Given the description of an element on the screen output the (x, y) to click on. 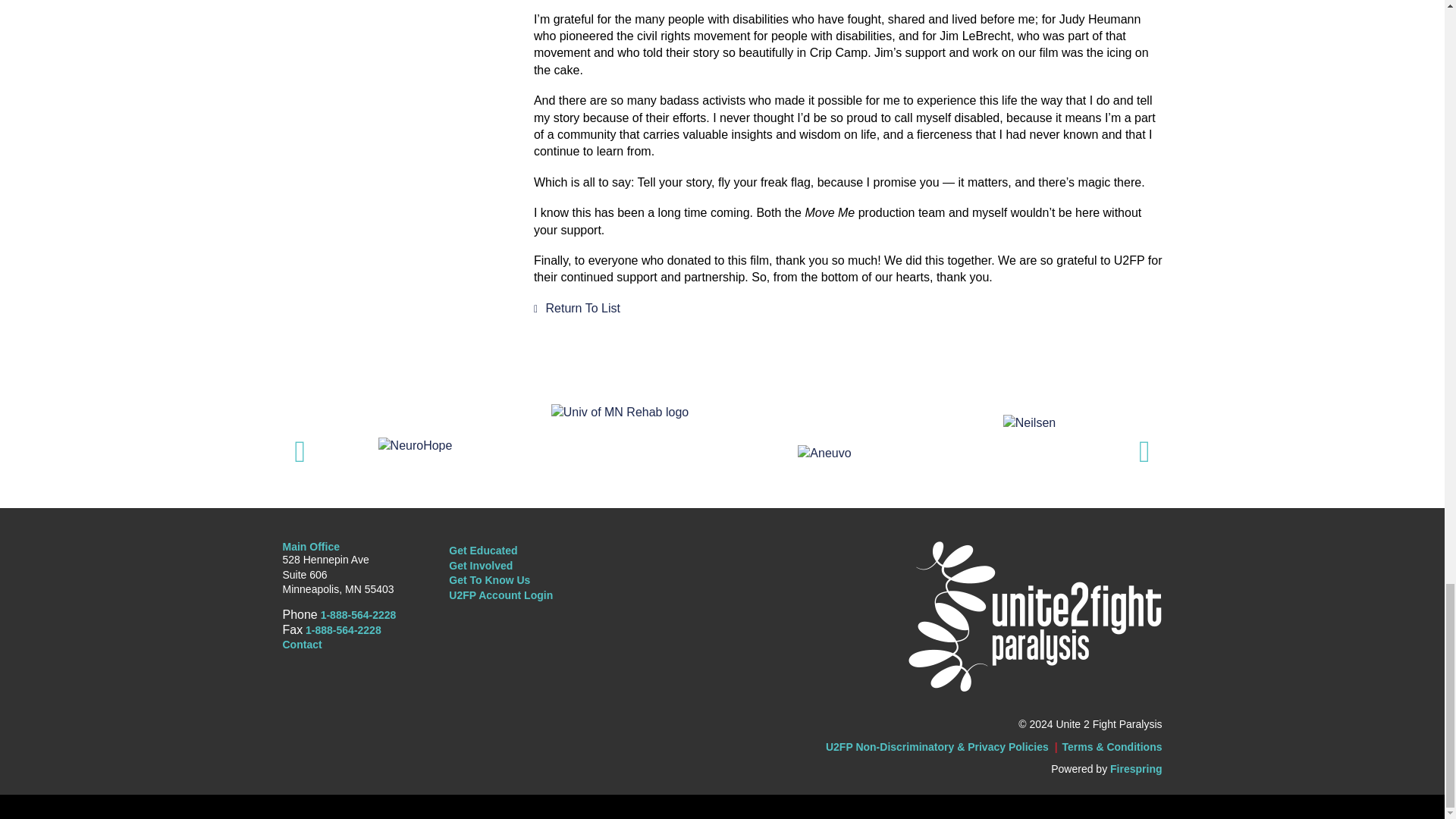
logo (1034, 616)
